Given the description of an element on the screen output the (x, y) to click on. 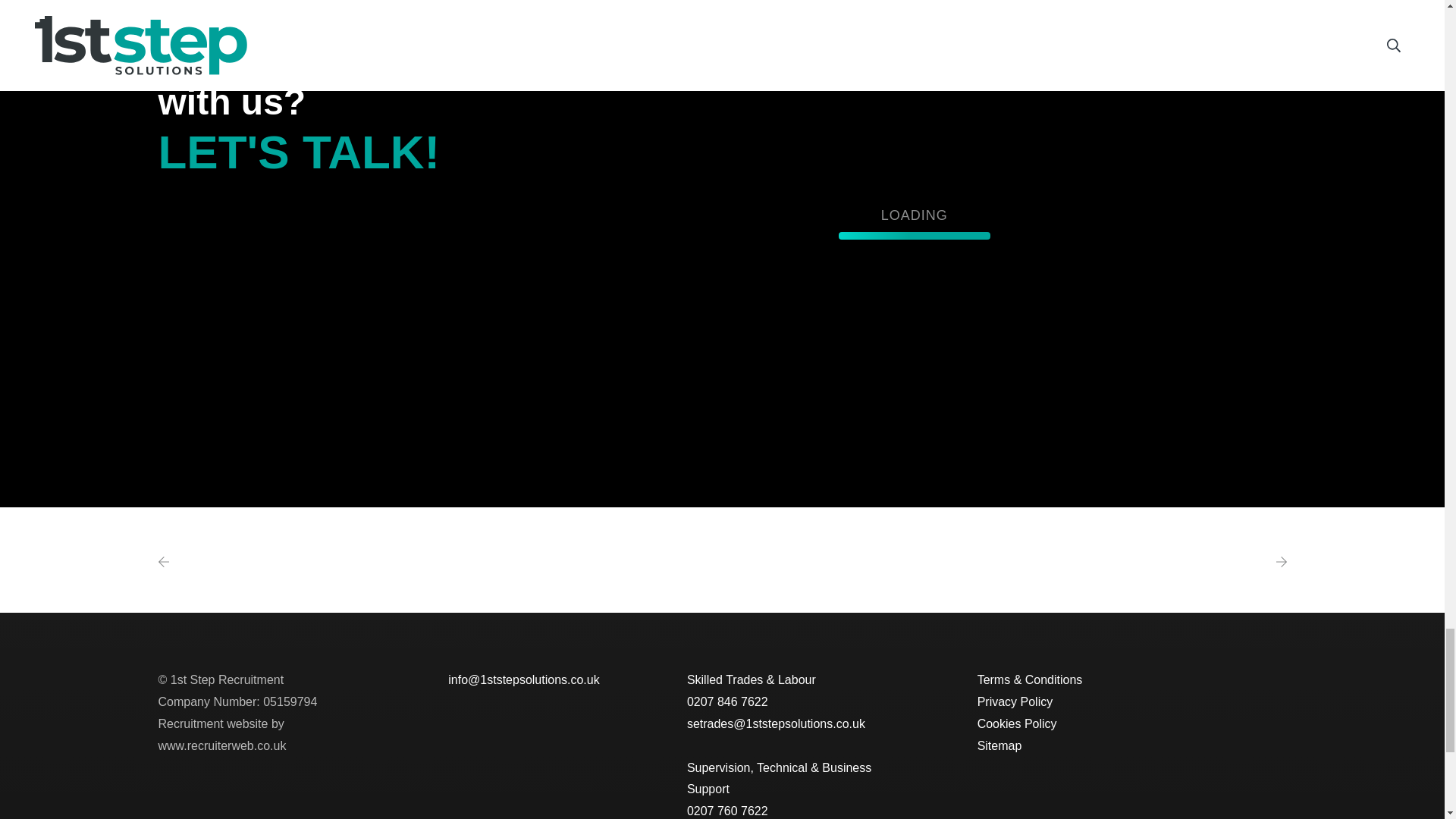
RecruiterWEB (221, 734)
